Given the description of an element on the screen output the (x, y) to click on. 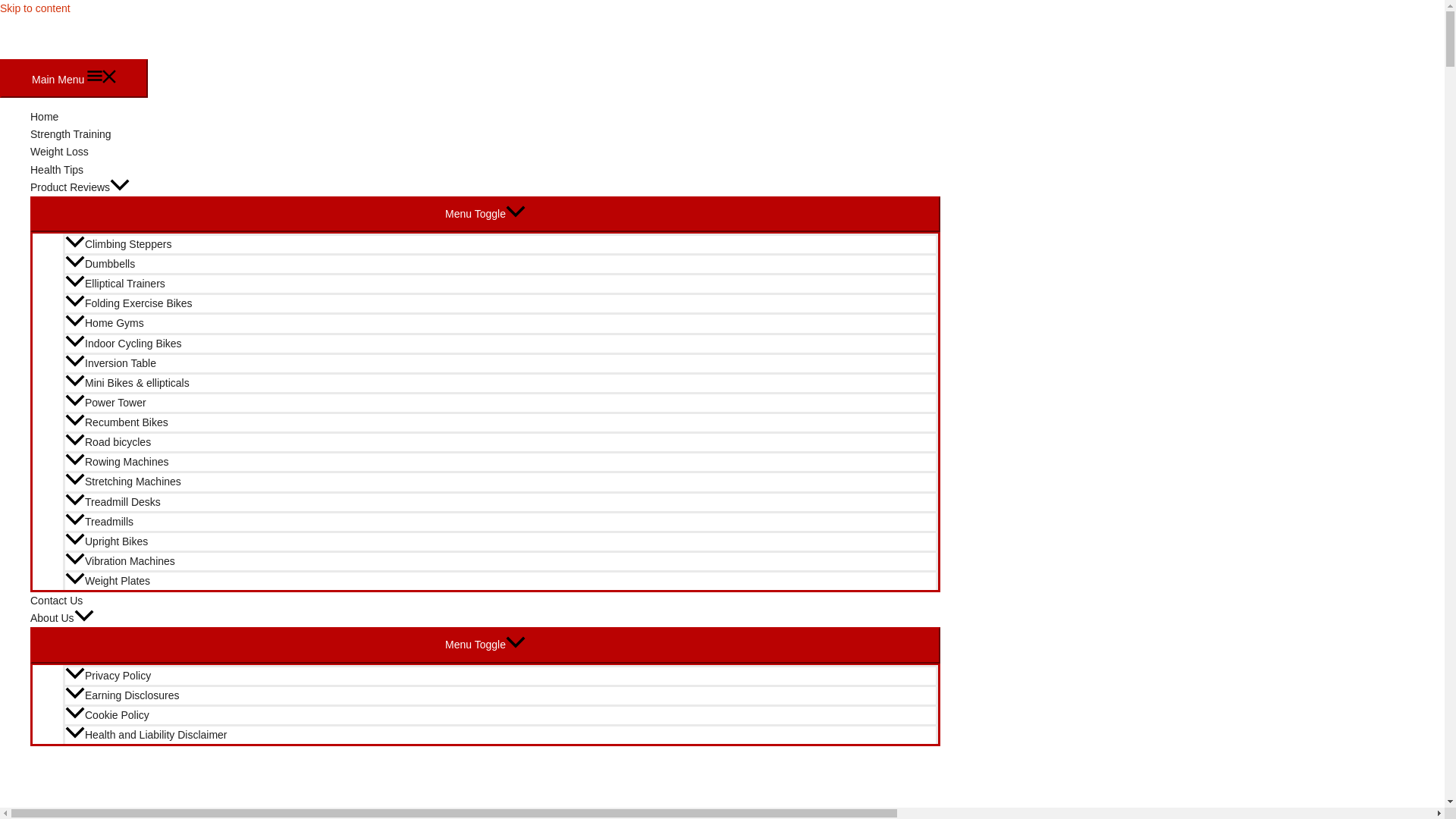
Inversion Table (499, 362)
Home (485, 117)
Menu Toggle (485, 213)
Home Gyms (499, 322)
Recumbent Bikes (499, 421)
Vibration Machines (499, 560)
Menu Toggle (485, 644)
About Us (485, 618)
Treadmills (499, 520)
Folding Exercise Bikes (499, 302)
